Given the description of an element on the screen output the (x, y) to click on. 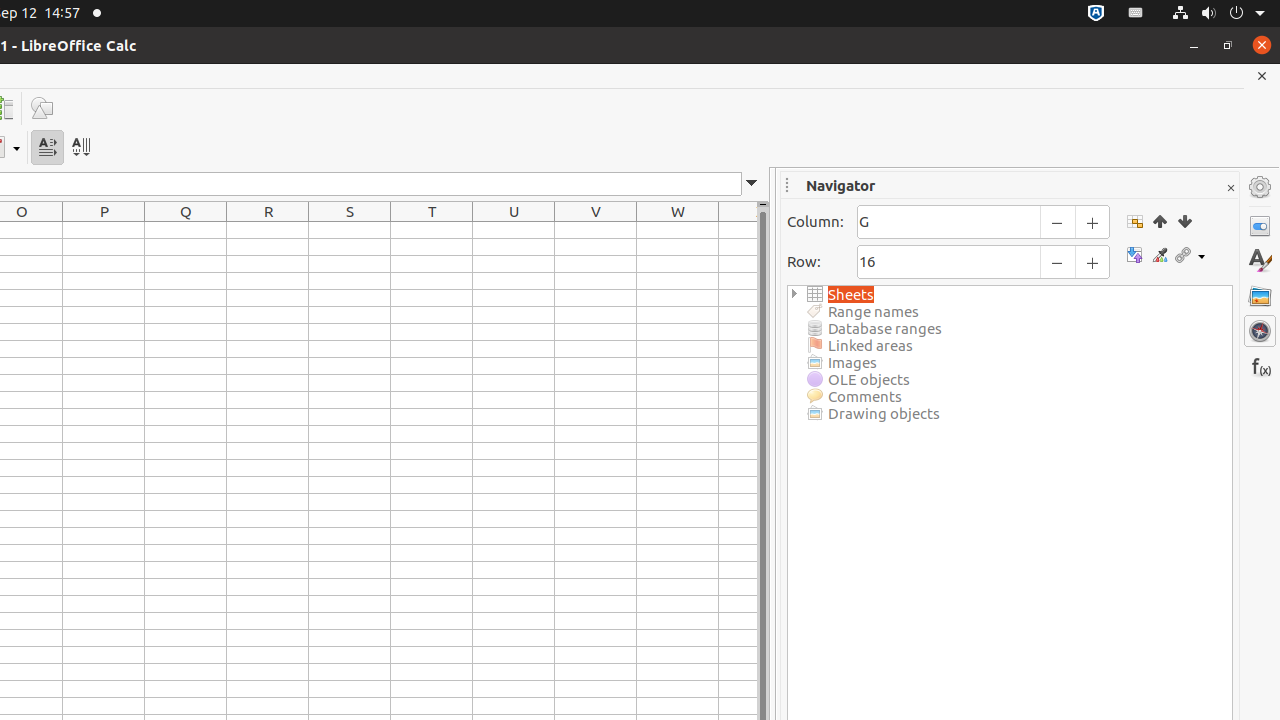
Close Sidebar Deck Element type: push-button (1230, 188)
Navigator Element type: radio-button (1260, 331)
T1 Element type: table-cell (432, 230)
Data Range Element type: push-button (1134, 221)
V1 Element type: table-cell (596, 230)
